Given the description of an element on the screen output the (x, y) to click on. 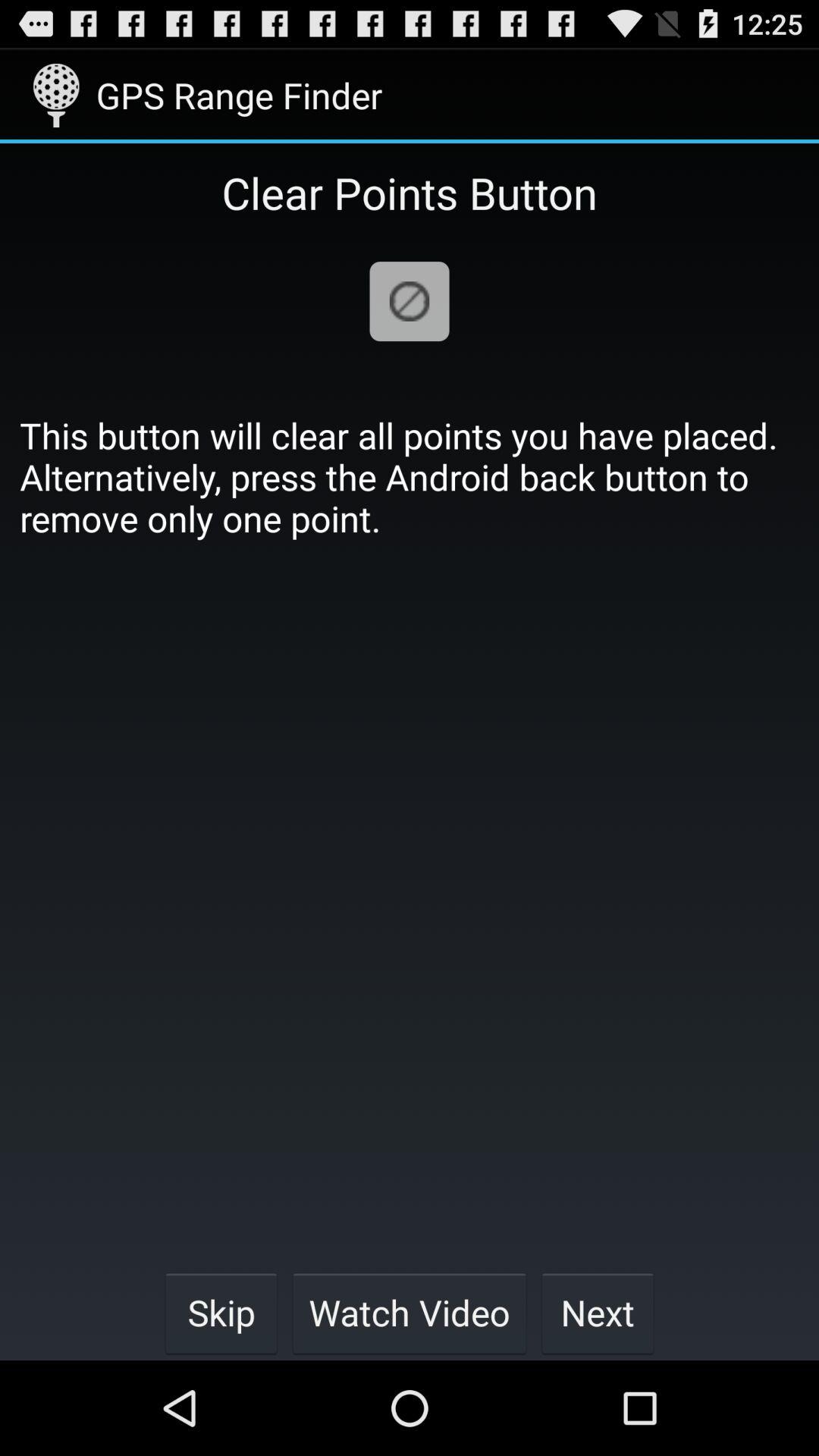
click the skip icon (220, 1312)
